Given the description of an element on the screen output the (x, y) to click on. 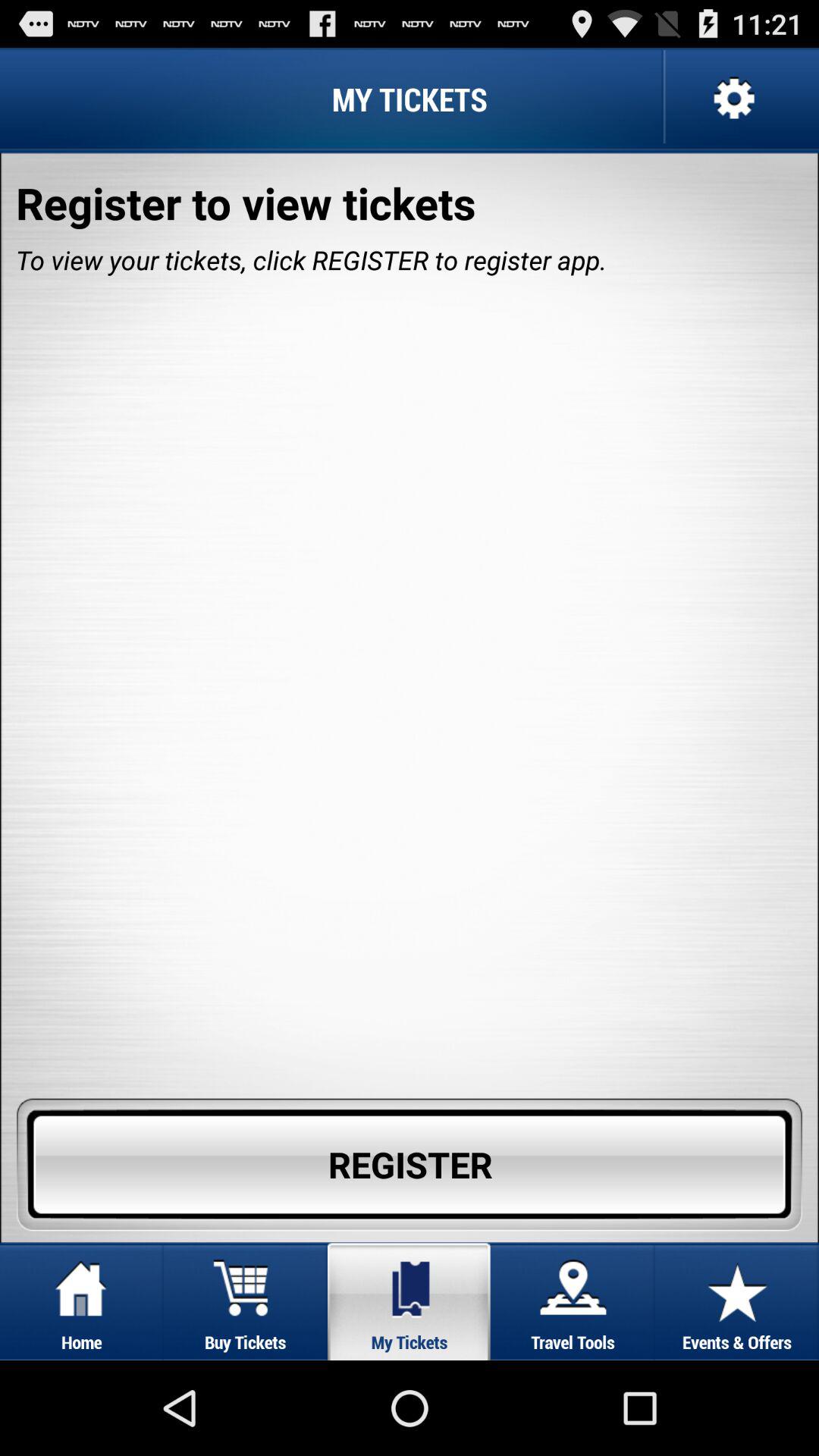
open the item to the right of the my tickets (732, 99)
